Given the description of an element on the screen output the (x, y) to click on. 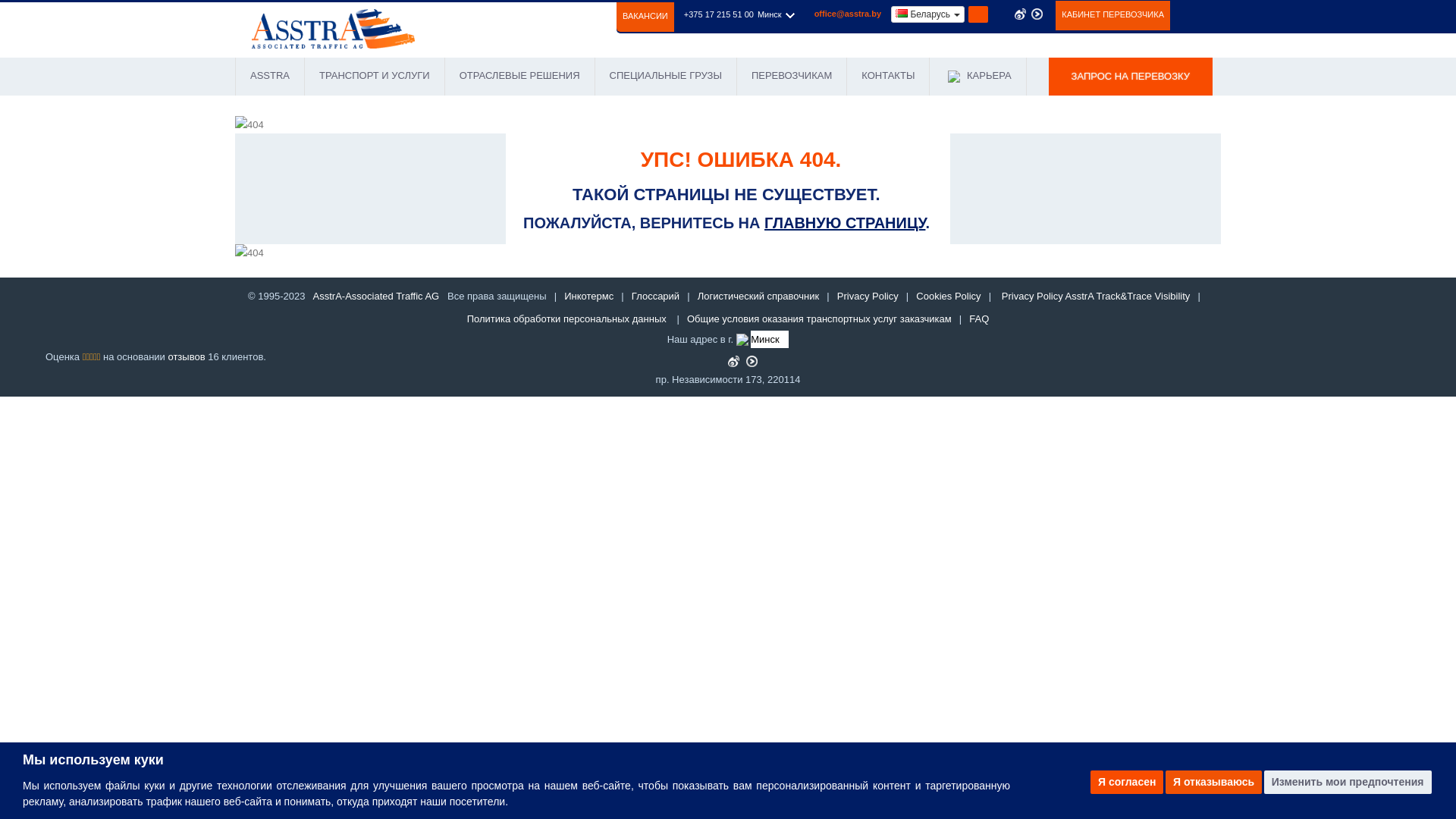
Privacy Policy Element type: text (867, 295)
+375 17 215 51 00 Element type: text (718, 13)
ASSTRA Element type: text (269, 76)
Youku Element type: hover (751, 361)
FAQ Element type: text (978, 318)
Youku Element type: hover (1036, 13)
Cookies Policy Element type: text (948, 295)
Weibo Element type: hover (1020, 13)
office@asstra.by Element type: text (847, 13)
Weibo Element type: hover (733, 361)
Privacy Policy AsstrA Track&Trace Visibility Element type: text (1095, 295)
